Given the description of an element on the screen output the (x, y) to click on. 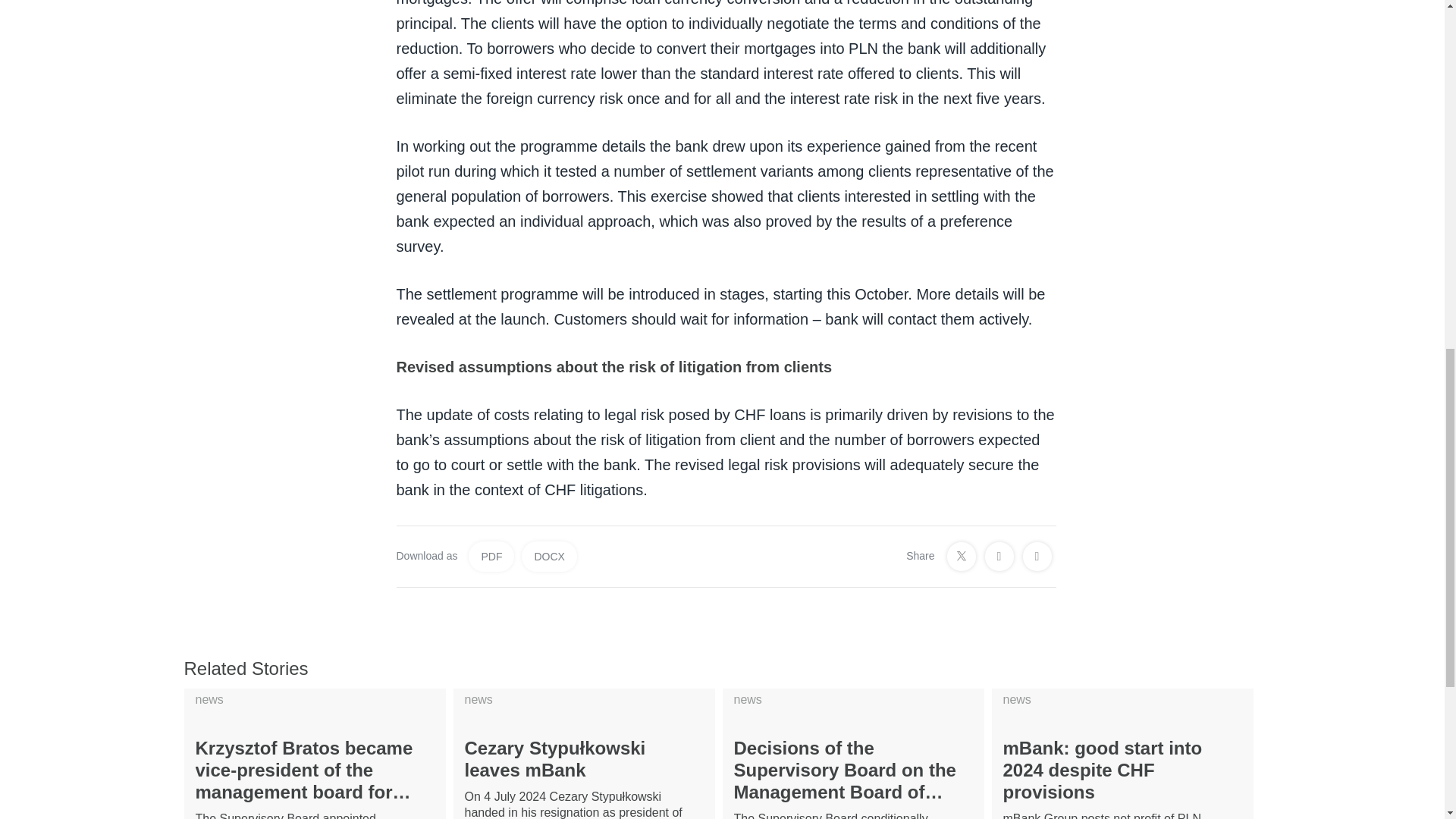
PDF (490, 556)
DOCX (548, 556)
